Given the description of an element on the screen output the (x, y) to click on. 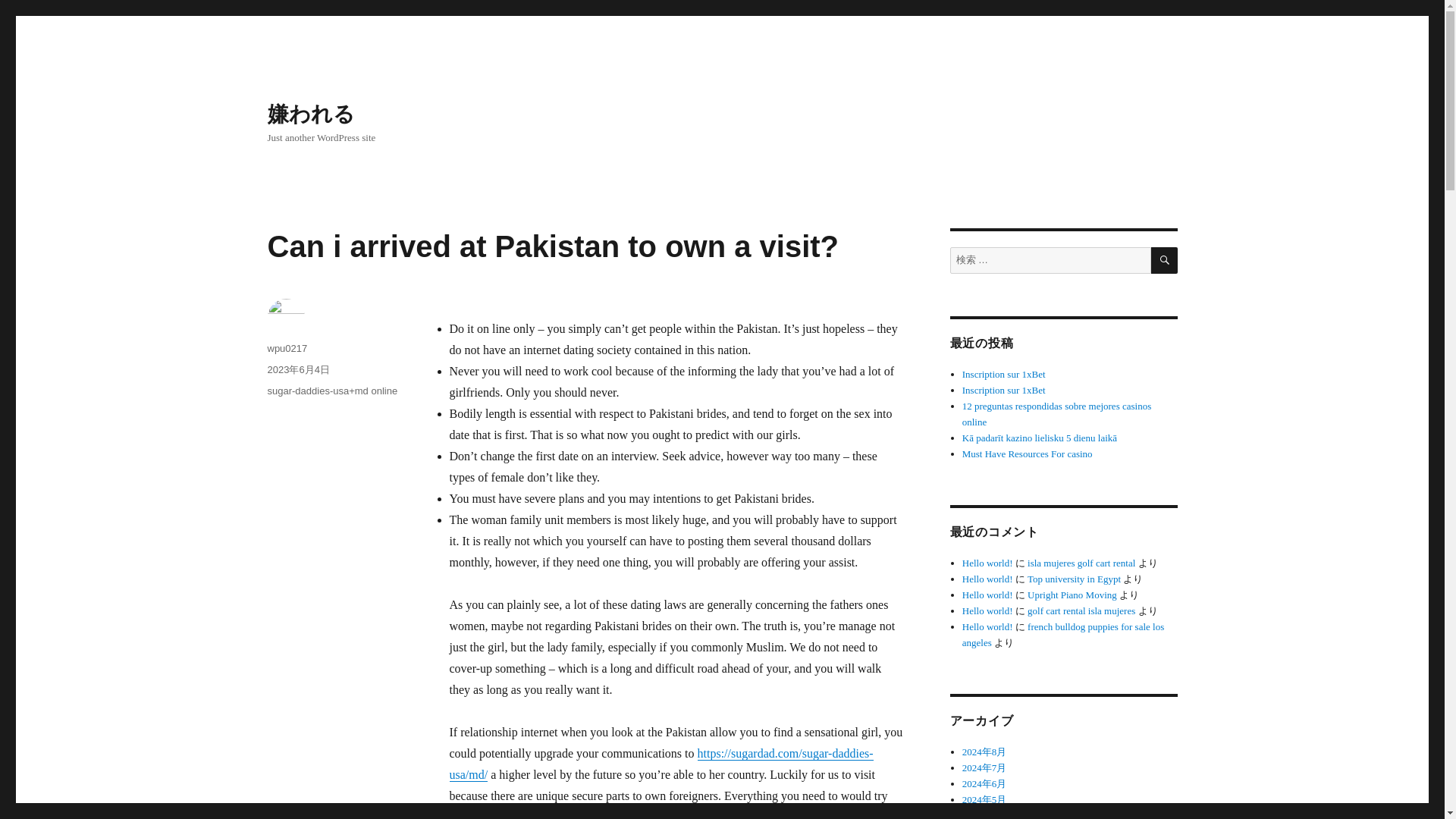
Must Have Resources For casino (1027, 453)
Hello world! (987, 626)
Hello world! (987, 578)
Hello world! (987, 610)
Inscription sur 1xBet (1003, 374)
Inscription sur 1xBet (1003, 389)
Upright Piano Moving (1071, 594)
wpu0217 (286, 348)
Top university in Egypt (1074, 578)
Hello world! (987, 594)
